Given the description of an element on the screen output the (x, y) to click on. 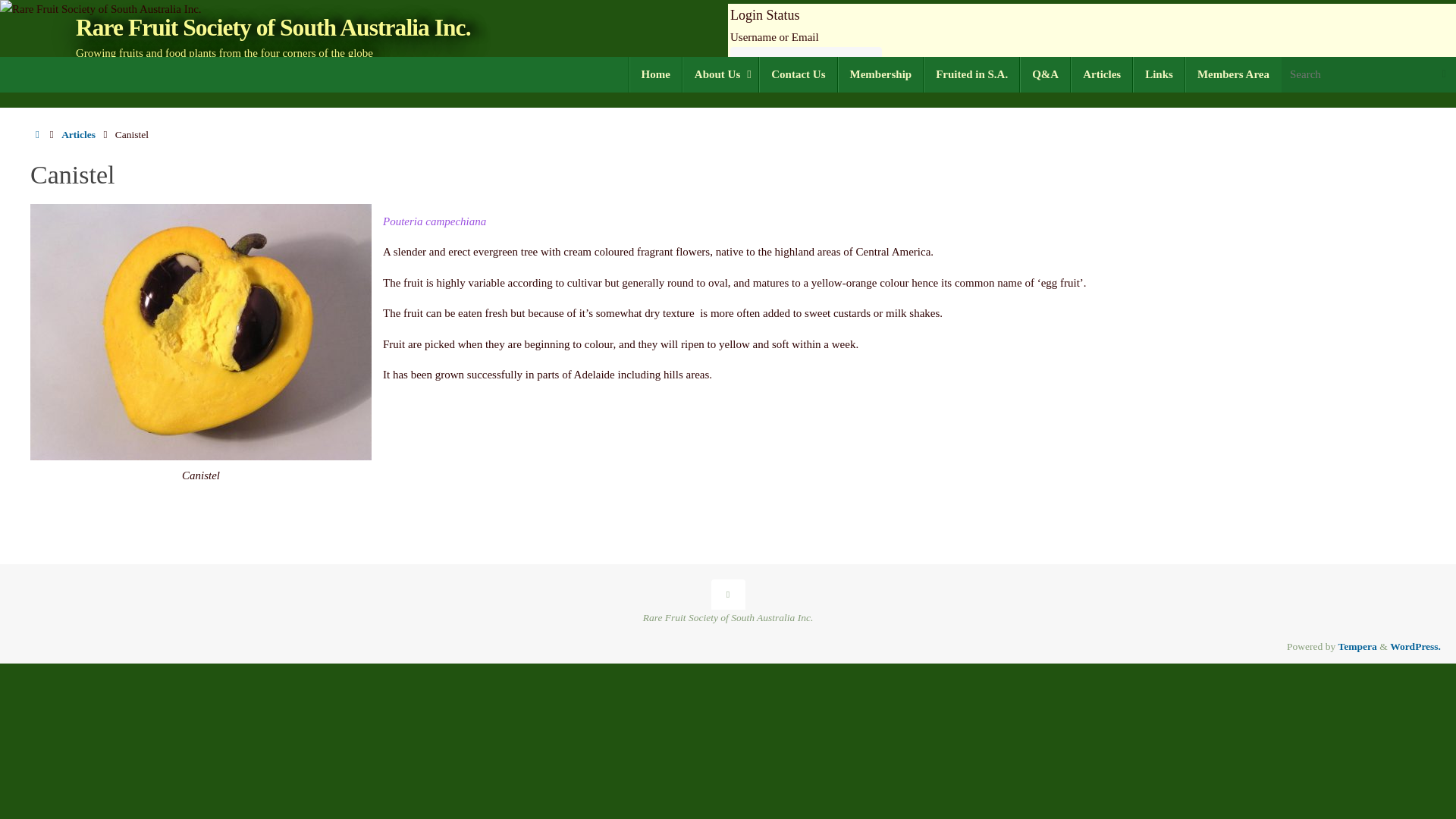
Home (655, 74)
WordPress. (1415, 645)
Semantic Personal Publishing Platform (1415, 645)
log in (749, 144)
Rare Fruit Society of South Australia Inc. (272, 28)
Membership (881, 74)
Articles (78, 134)
Members Area (1233, 74)
Fruited in S.A. (971, 74)
Tempera (1357, 645)
